Given the description of an element on the screen output the (x, y) to click on. 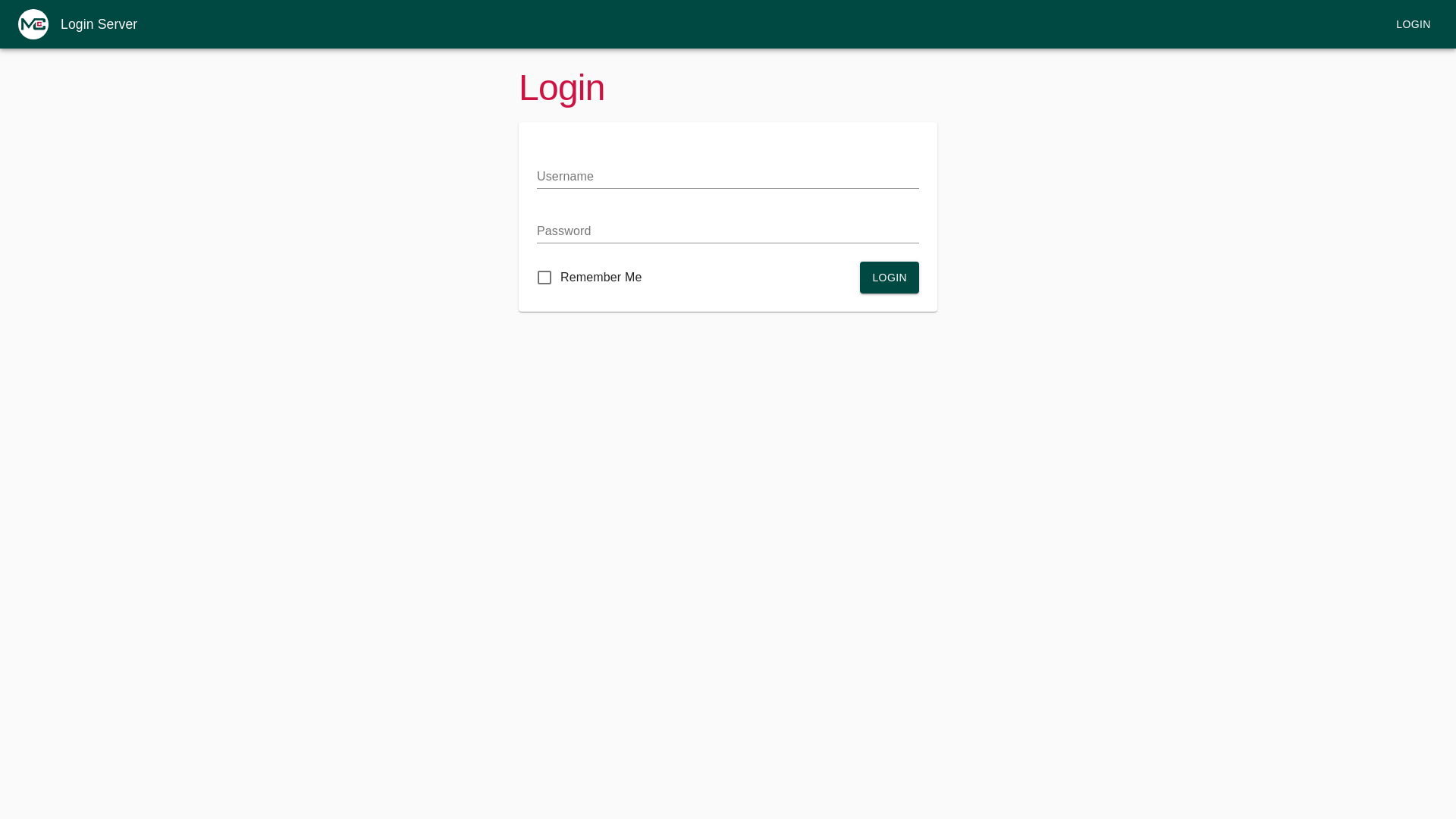
LOGIN Element type: text (889, 277)
LOGIN Element type: text (1413, 24)
Login Server Element type: text (98, 23)
